Given the description of an element on the screen output the (x, y) to click on. 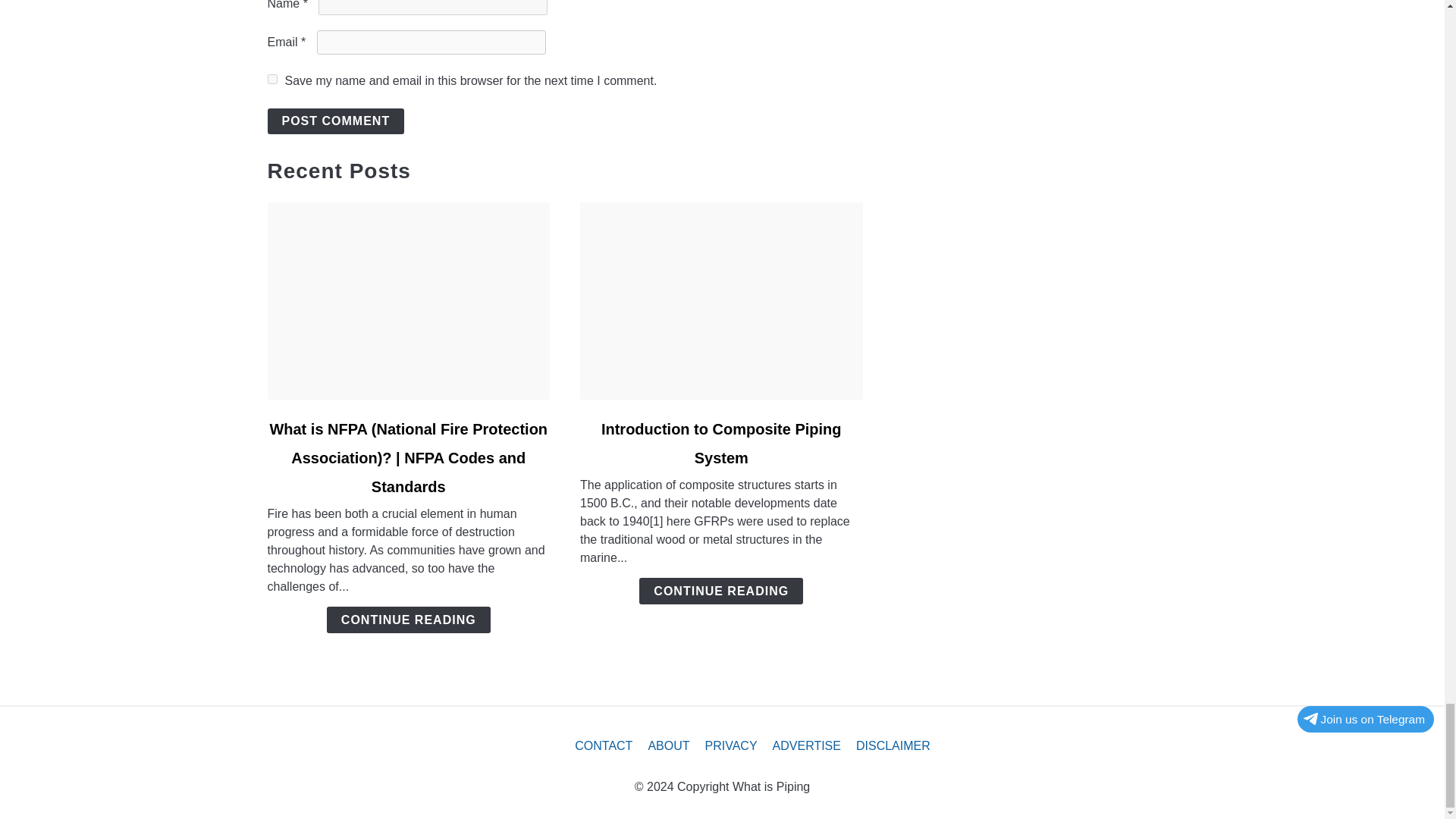
Post Comment (335, 121)
yes (271, 79)
